Given the description of an element on the screen output the (x, y) to click on. 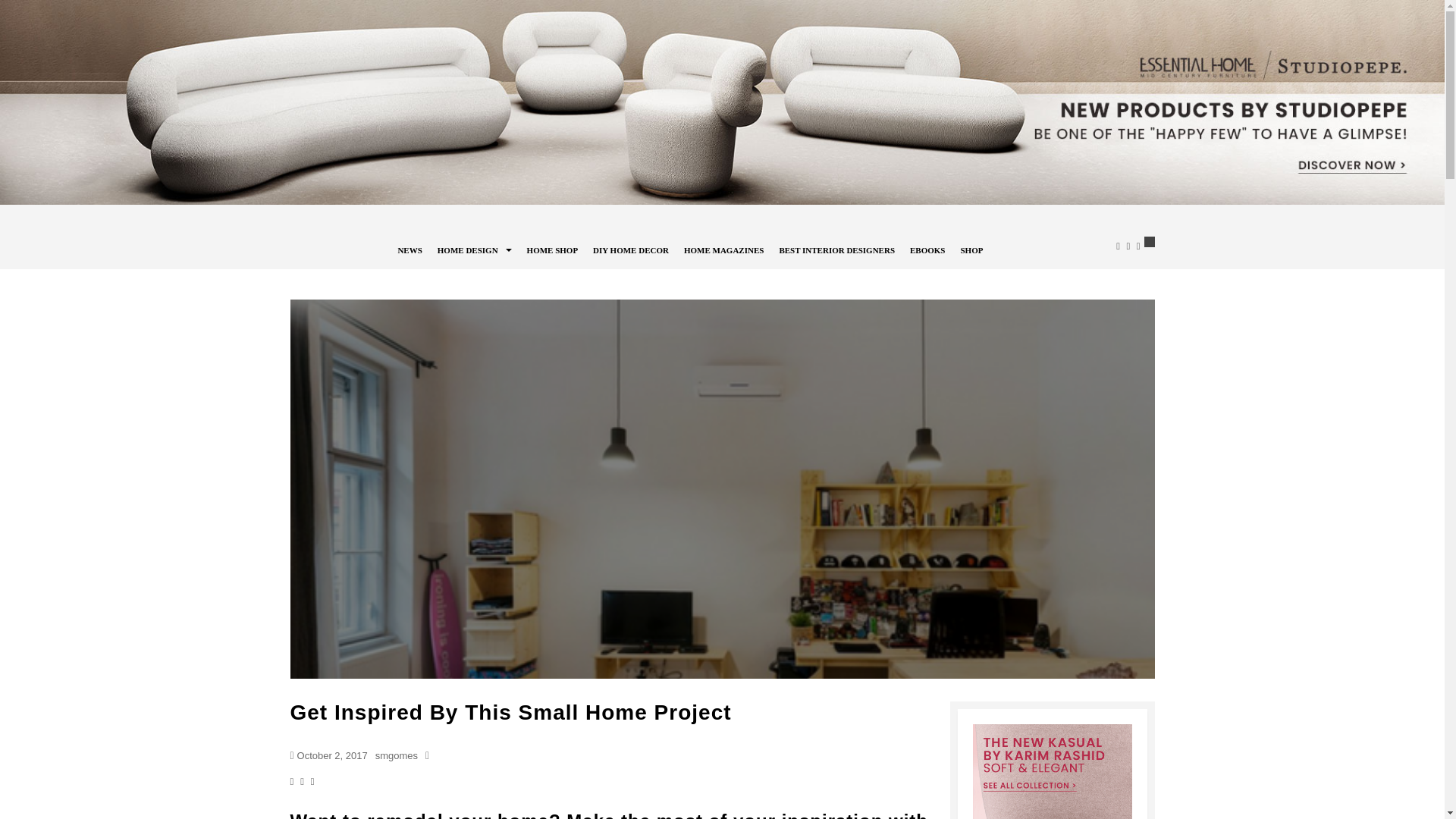
HOME MAGAZINES (723, 247)
DIY HOME DECOR (630, 247)
smgomes (396, 755)
HOME DESIGN (467, 247)
October 2, 2017 (332, 755)
BEST INTERIOR DESIGNERS (836, 247)
HOME SHOP (552, 247)
EBOOKS (927, 247)
